Given the description of an element on the screen output the (x, y) to click on. 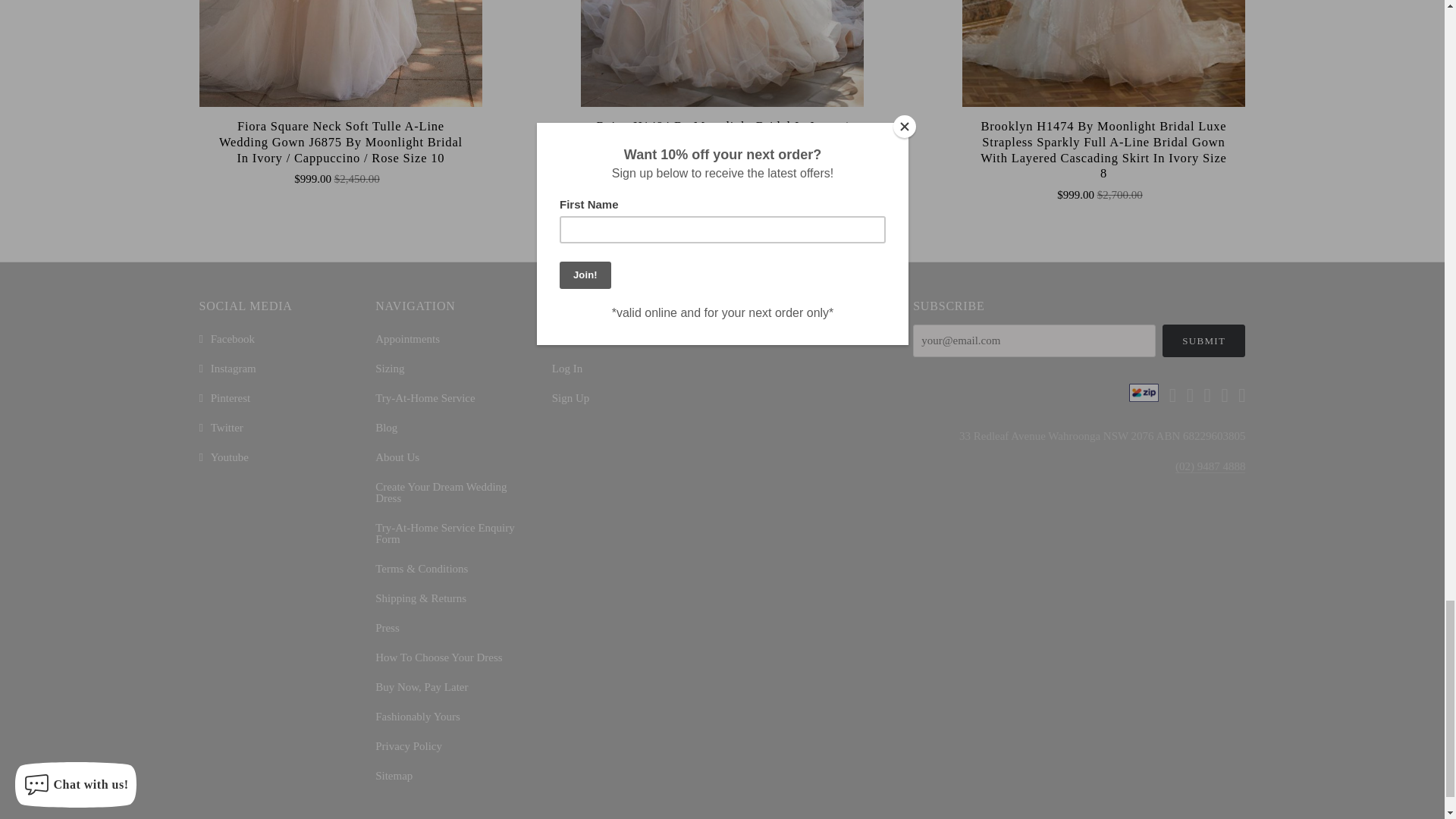
Submit (1203, 340)
